Given the description of an element on the screen output the (x, y) to click on. 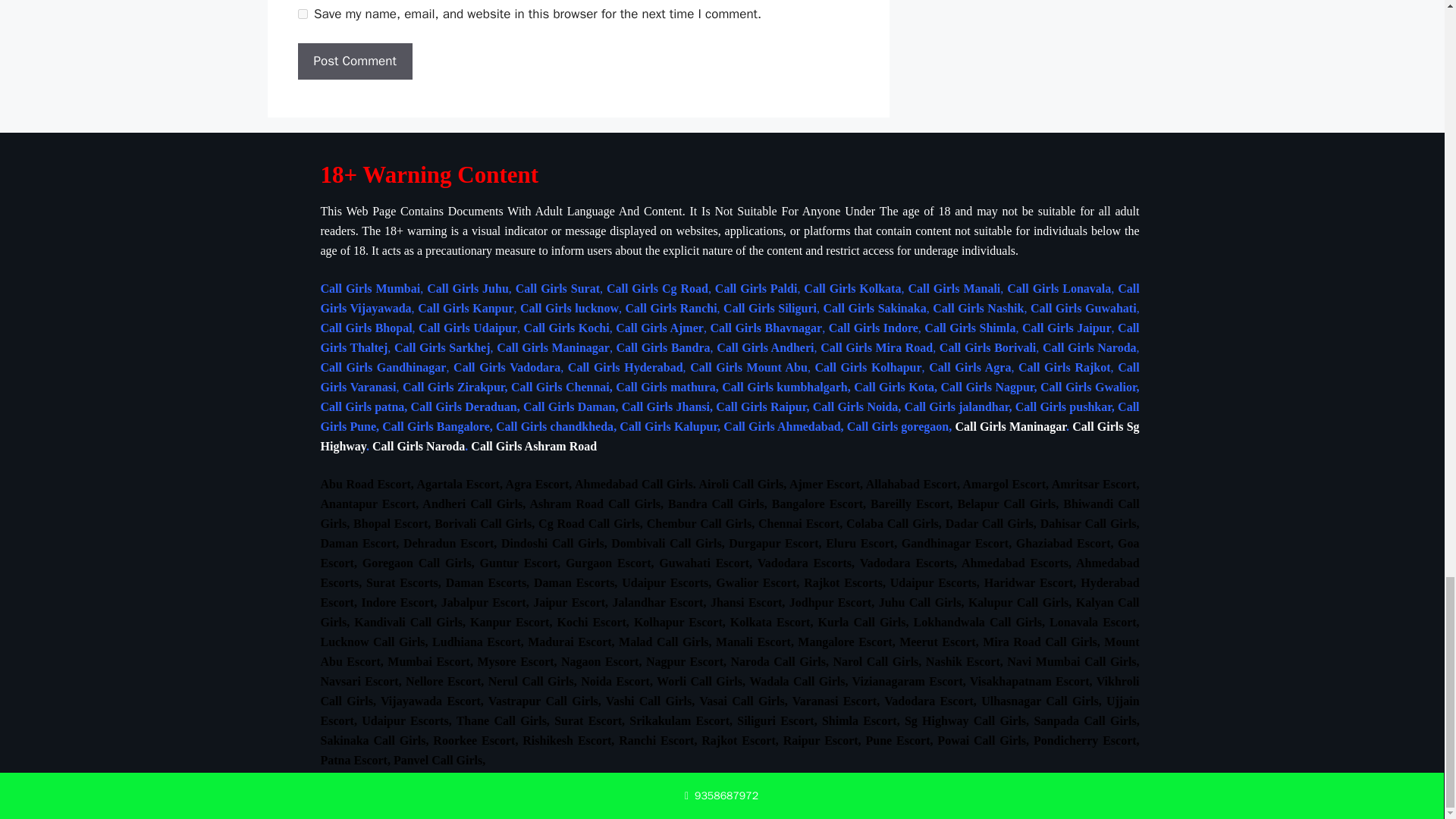
Post Comment (354, 61)
yes (302, 13)
